Given the description of an element on the screen output the (x, y) to click on. 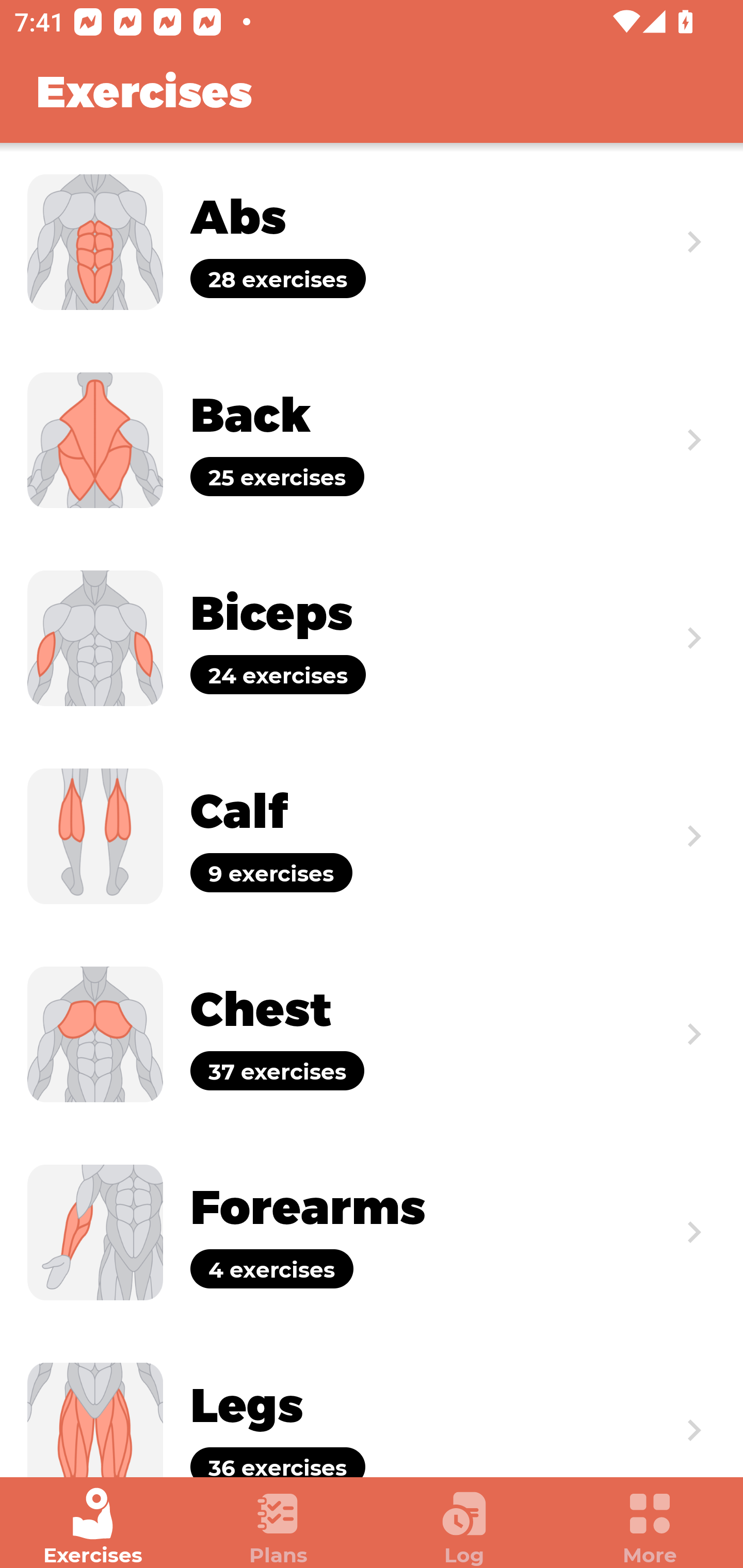
Exercise Abs 28 exercises (371, 241)
Exercise Back 25 exercises (371, 439)
Exercise Biceps 24 exercises (371, 637)
Exercise Calf 9 exercises (371, 836)
Exercise Chest 37 exercises (371, 1033)
Exercise Forearms 4 exercises (371, 1232)
Exercise Legs 36 exercises (371, 1404)
Exercises (92, 1527)
Plans (278, 1527)
Log (464, 1527)
More (650, 1527)
